Given the description of an element on the screen output the (x, y) to click on. 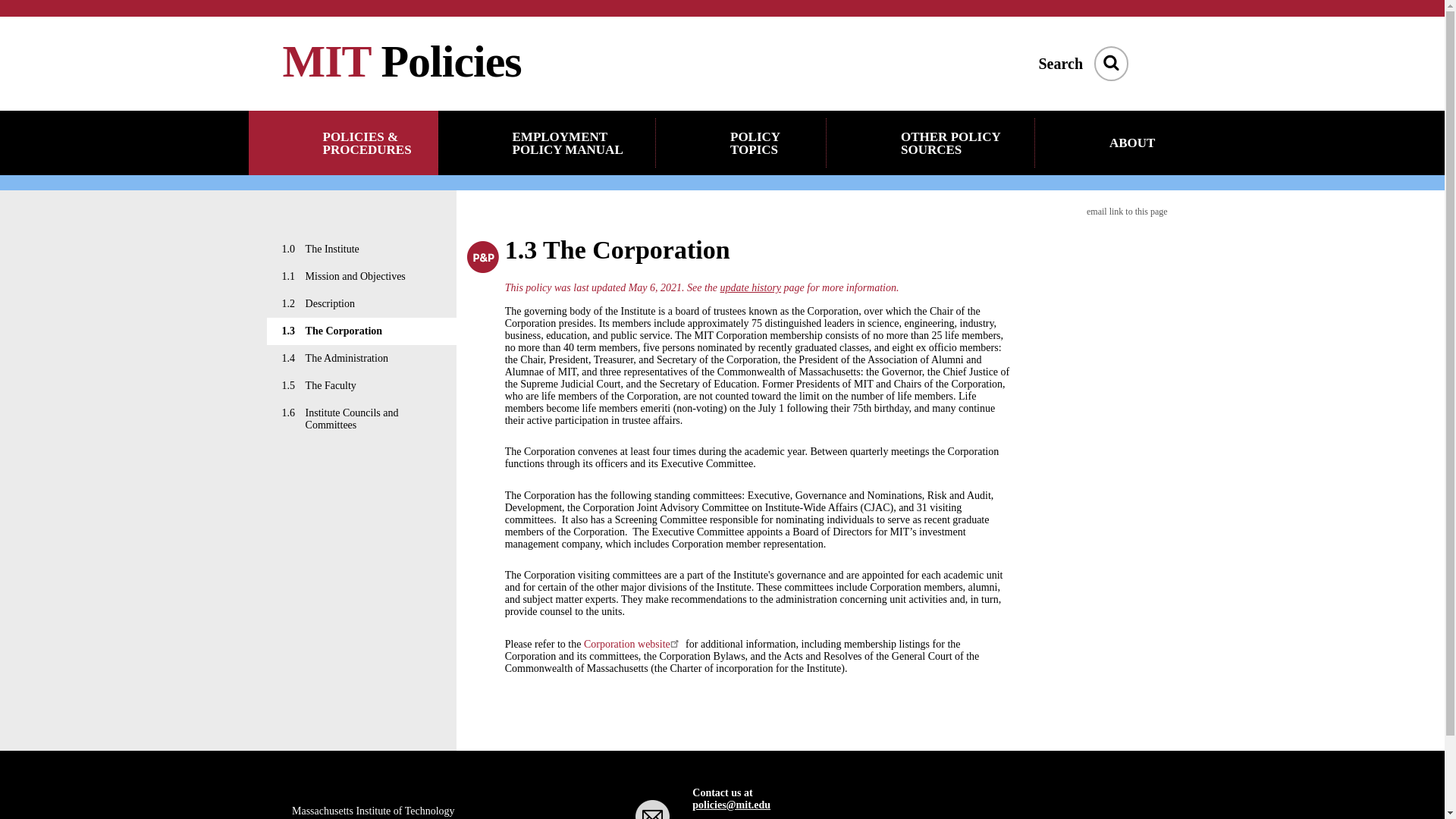
Search (1110, 62)
POLICY TOPICS (741, 142)
MIT Policies (401, 61)
EMPLOYMENT POLICY MANUAL (547, 142)
OTHER POLICY SOURCES (931, 142)
Home (401, 61)
